Given the description of an element on the screen output the (x, y) to click on. 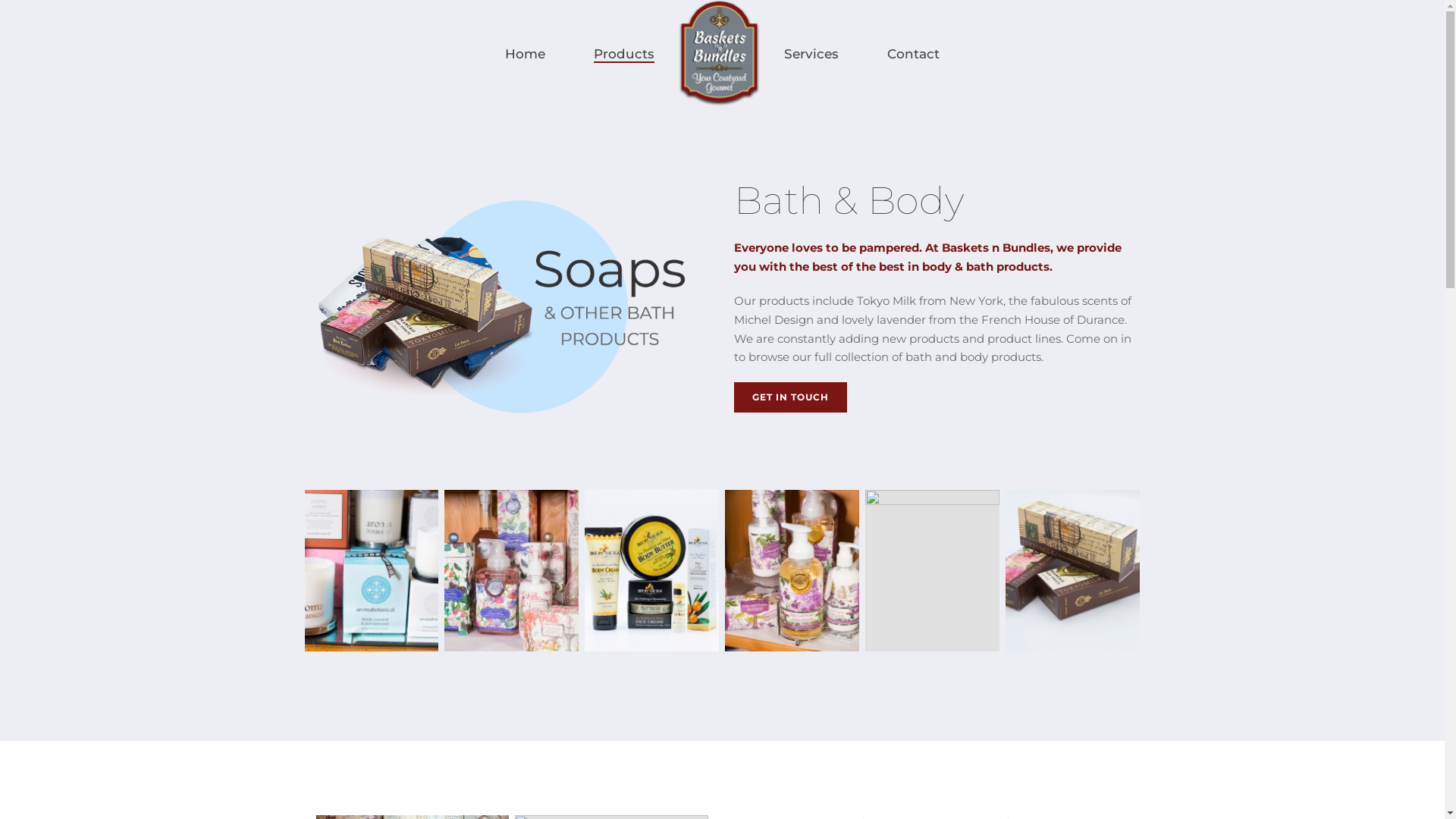
Services Element type: text (810, 53)
gifts-circle Element type: hover (511, 310)
Products Element type: text (623, 53)
Home Element type: text (524, 53)
bee-by-the-sea Element type: hover (651, 570)
sea-shells Element type: hover (932, 570)
aroma-botanical Element type: hover (371, 570)
Baskets n Bundles Element type: hover (719, 53)
GET IN TOUCH Element type: text (790, 397)
tokyo-milk-2 Element type: hover (1072, 570)
lilac-and-violets Element type: hover (791, 570)
Contact Element type: text (912, 53)
assorted-products Element type: hover (511, 570)
